Given the description of an element on the screen output the (x, y) to click on. 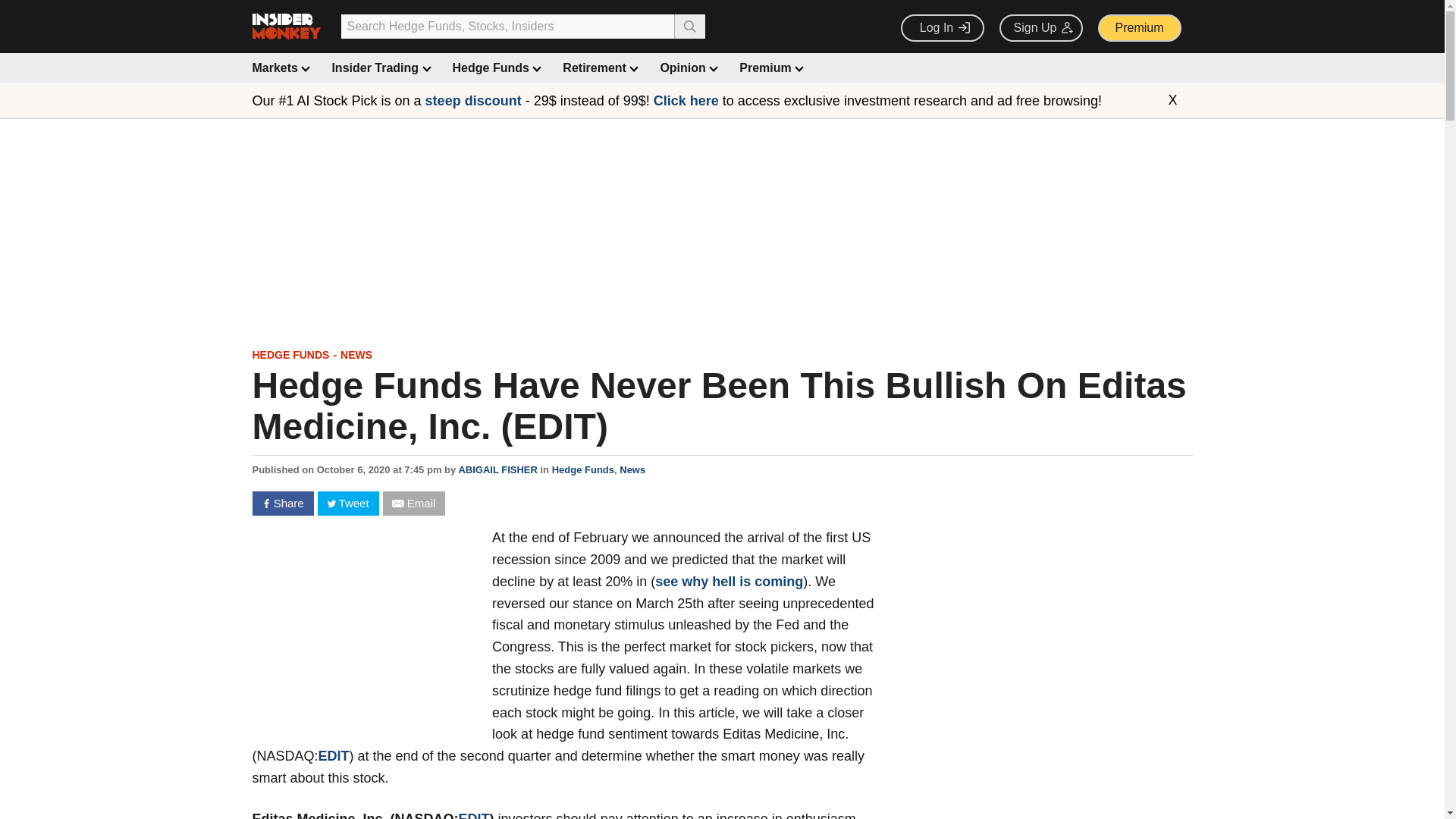
Log In (942, 27)
Premium (1138, 27)
Hedge Funds (495, 68)
Opinion (686, 68)
Sign Up (1040, 27)
Markets (279, 68)
Retirement (598, 68)
View all posts in News (632, 469)
View all posts in Hedge Funds (582, 469)
